Given the description of an element on the screen output the (x, y) to click on. 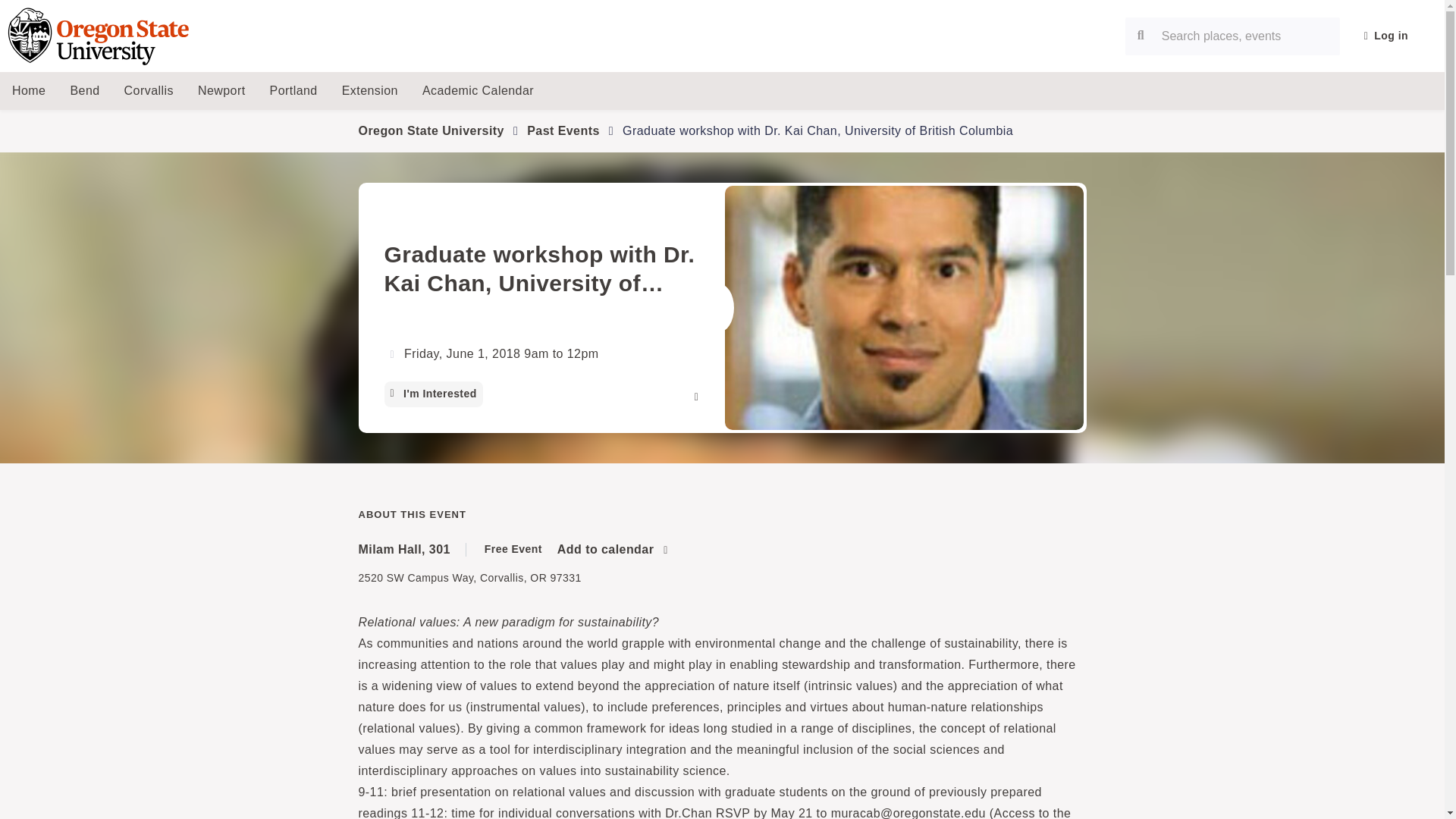
Home (29, 90)
Bend (85, 90)
Oregon State University (430, 130)
Corvallis (149, 90)
Add to calendar (612, 549)
I'm Interested (432, 394)
Extension (370, 90)
Portland (293, 90)
Academic Calendar (478, 90)
Log in (1386, 36)
